Given the description of an element on the screen output the (x, y) to click on. 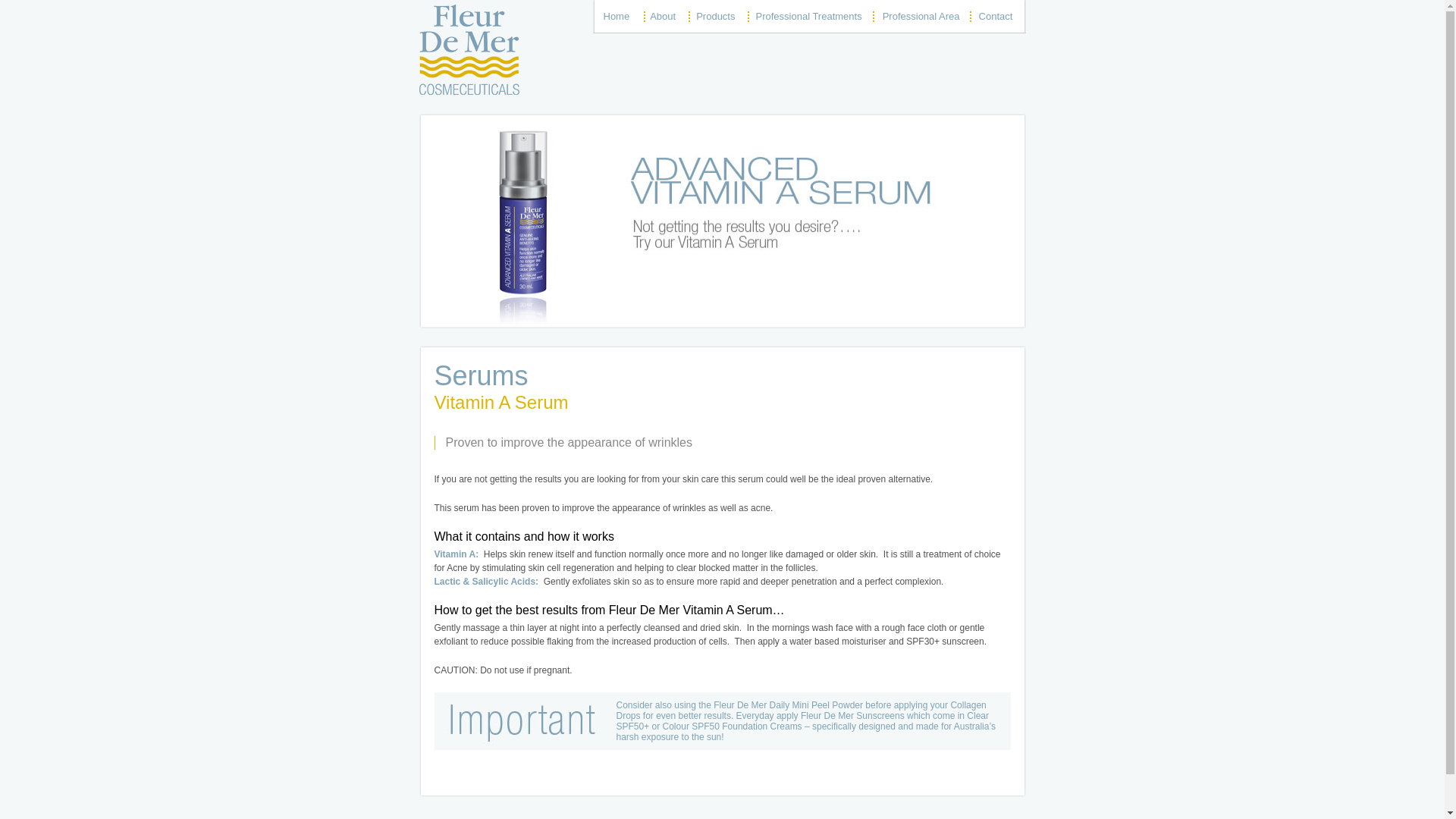
Professional Treatments Element type: text (808, 16)
Professional Area Element type: text (920, 16)
Products Element type: text (715, 16)
Home Element type: text (616, 16)
Contact Element type: text (995, 16)
About Element type: text (662, 16)
